Given the description of an element on the screen output the (x, y) to click on. 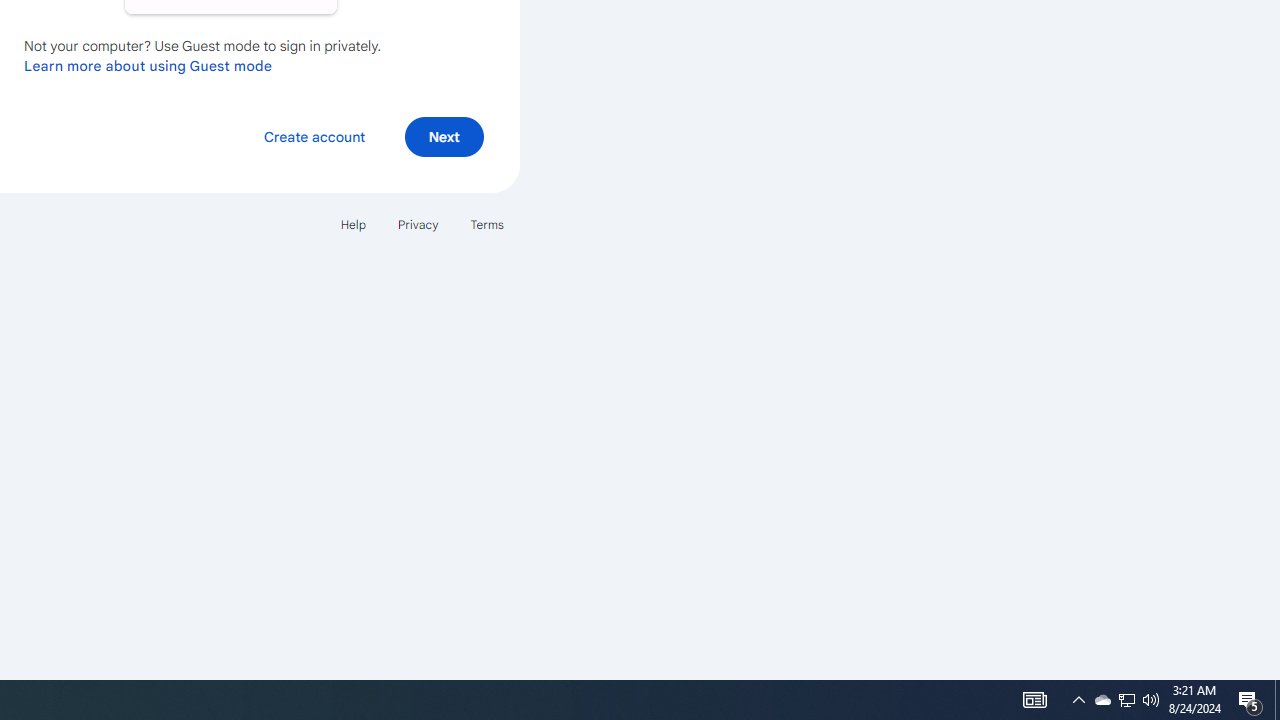
Help (352, 224)
Privacy (417, 224)
Create account (314, 135)
Terms (486, 224)
Next (443, 135)
Learn more about using Guest mode (148, 65)
